Given the description of an element on the screen output the (x, y) to click on. 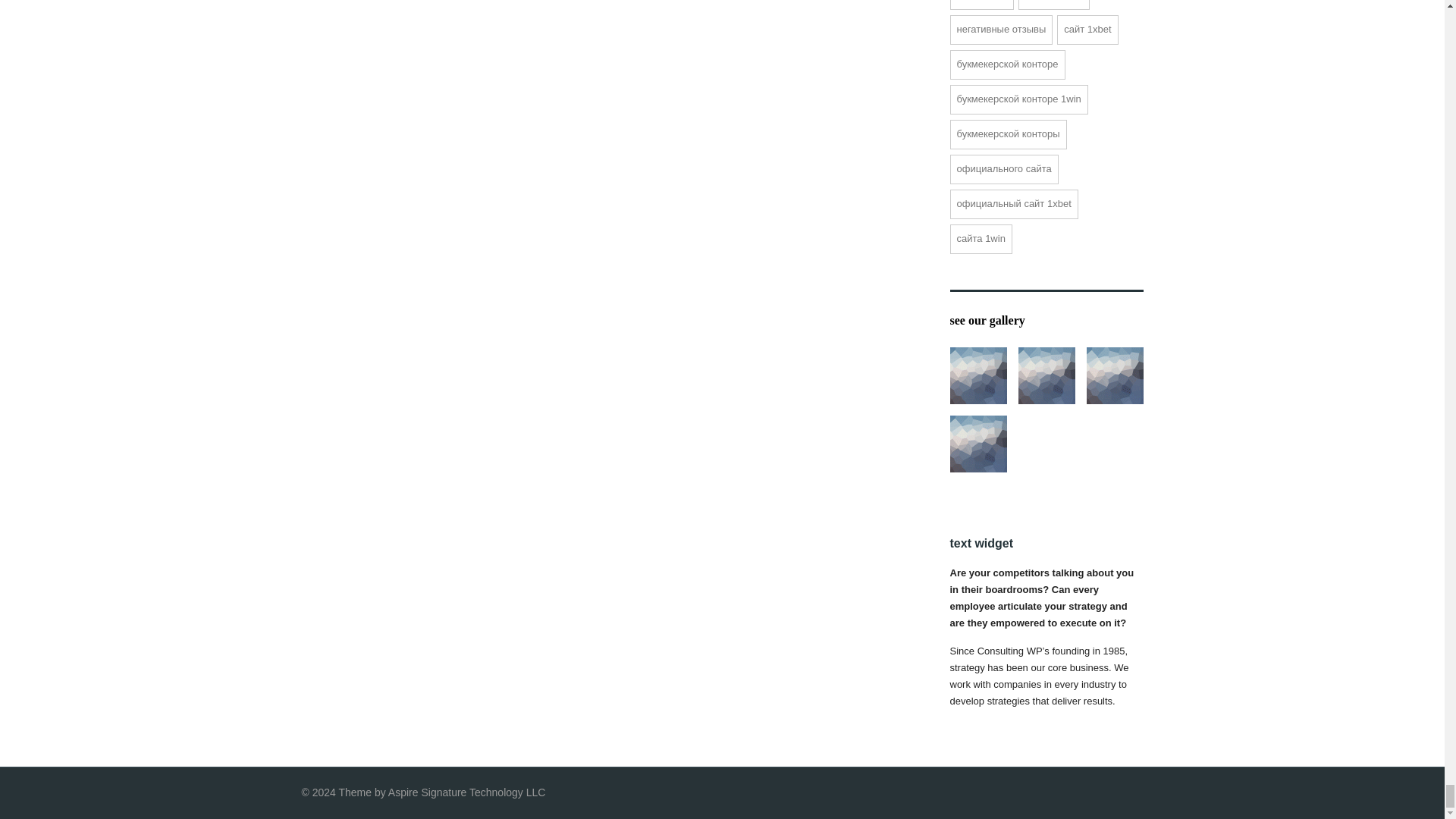
placeholder (977, 375)
placeholder (1045, 375)
placeholder (1114, 375)
placeholder (977, 443)
